Given the description of an element on the screen output the (x, y) to click on. 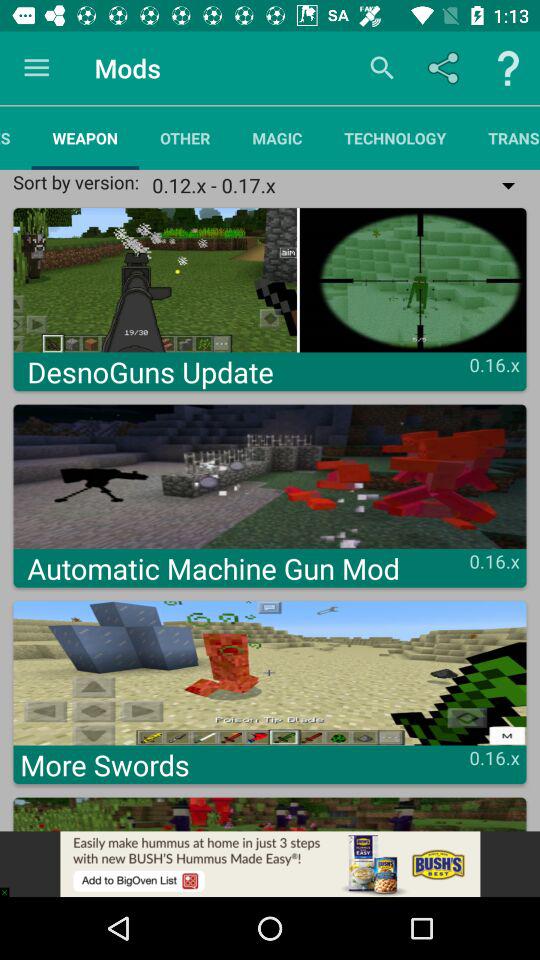
help (508, 67)
